Given the description of an element on the screen output the (x, y) to click on. 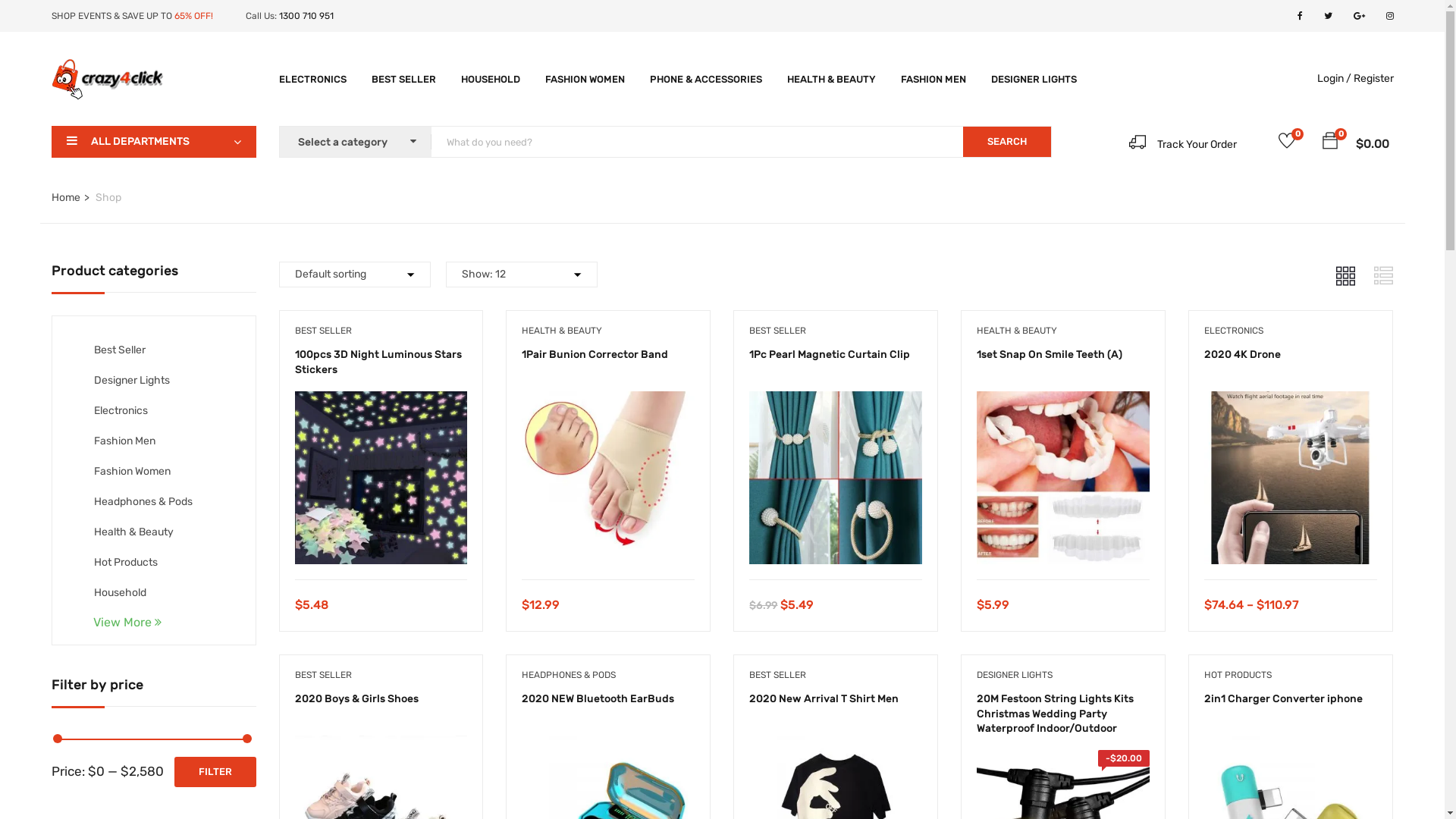
1Pair Bunion Corrector Band Element type: text (594, 354)
0 Element type: text (1286, 142)
Headphones & Pods Element type: text (143, 501)
100pcs 3D Night Luminous Stars Stickers Element type: text (377, 362)
1set Snap On Smile Teeth (A) Element type: text (1049, 354)
ELECTRONICS Element type: text (312, 78)
DESIGNER LIGHTS Element type: text (1033, 78)
2in1 Charger Converter iphone Element type: hover (1290, 746)
HOUSEHOLD Element type: text (490, 78)
FASHION MEN Element type: text (933, 78)
2020 New Arrival T Shirt Men Element type: hover (835, 746)
1300 710 951 Element type: text (306, 15)
1Pair Bunion Corrector Band Element type: hover (607, 402)
DESIGNER LIGHTS Element type: text (1014, 674)
Electronics Element type: text (120, 410)
BEST SELLER Element type: text (777, 330)
1Pc Pearl Magnetic Curtain Clip Element type: text (829, 354)
2020 4K Drone Element type: text (1242, 354)
BEST SELLER Element type: text (777, 674)
Login / Element type: text (1333, 78)
1Pc Pearl Magnetic Curtain Clip Element type: hover (835, 402)
Home Element type: text (65, 197)
BEST SELLER Element type: text (322, 674)
Fashion Women Element type: text (132, 470)
Best Seller Element type: text (119, 349)
0 Element type: text (1329, 142)
Fashion Men Element type: text (124, 440)
2020 4K Drone Element type: hover (1290, 402)
FASHION WOMEN Element type: text (584, 78)
HEALTH & BEAUTY Element type: text (1016, 330)
100pcs 3D Night Luminous Stars Stickers Element type: hover (380, 402)
2020 Boys & Girls Shoes Element type: text (355, 698)
BEST SELLER Element type: text (322, 330)
BEST SELLER Element type: text (403, 78)
HEALTH & BEAUTY Element type: text (831, 78)
Track Your Order Element type: text (1182, 144)
View More Element type: text (152, 626)
2020 Boys & Girls Shoes Element type: hover (380, 746)
HEALTH & BEAUTY Element type: text (561, 330)
2in1 Charger Converter iphone Element type: text (1283, 698)
Hot Products Element type: text (125, 561)
Designer Lights Element type: text (131, 379)
HOT PRODUCTS Element type: text (1237, 674)
2020 NEW  Bluetooth EarBuds Element type: hover (607, 746)
Kids Corner Element type: text (121, 622)
Health & Beauty Element type: text (133, 531)
ELECTRONICS Element type: text (1233, 330)
PHONE & ACCESSORIES Element type: text (705, 78)
Register Element type: text (1372, 78)
SEARCH Element type: text (1007, 141)
1set Snap On Smile Teeth  (A) Element type: hover (1062, 402)
2020 NEW Bluetooth EarBuds Element type: text (597, 698)
HEADPHONES & PODS Element type: text (568, 674)
Household Element type: text (120, 592)
2020 New Arrival T Shirt Men Element type: text (823, 698)
FILTER Element type: text (215, 771)
